Given the description of an element on the screen output the (x, y) to click on. 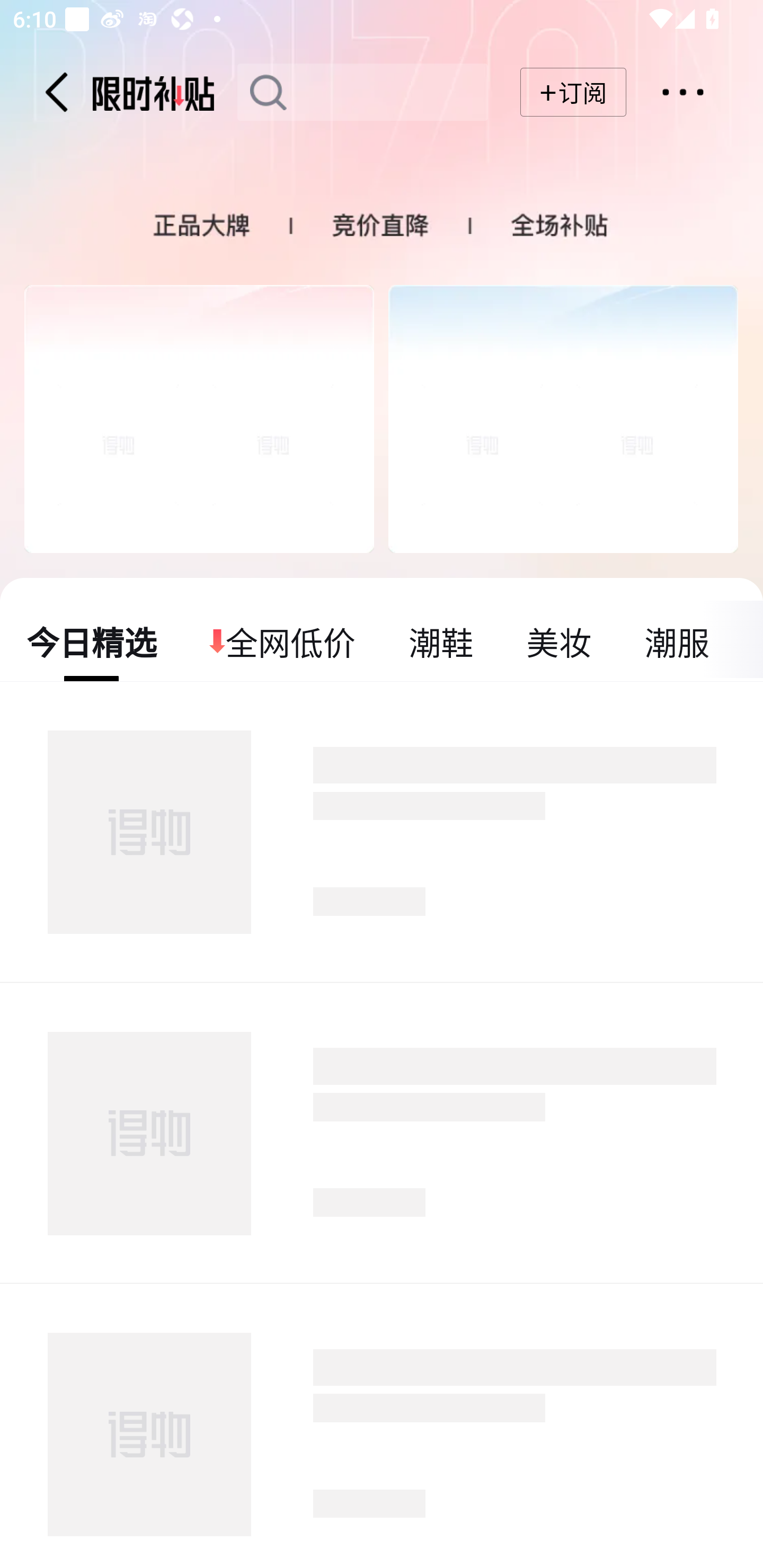
+订阅 (572, 92)
今日精选 (92, 640)
9e7fc8ca-86cd-3a08-4a56-57b9d219ca85-30-45 全网低价 (283, 640)
潮鞋 (440, 640)
美妆 (558, 640)
潮服 (676, 640)
